Given the description of an element on the screen output the (x, y) to click on. 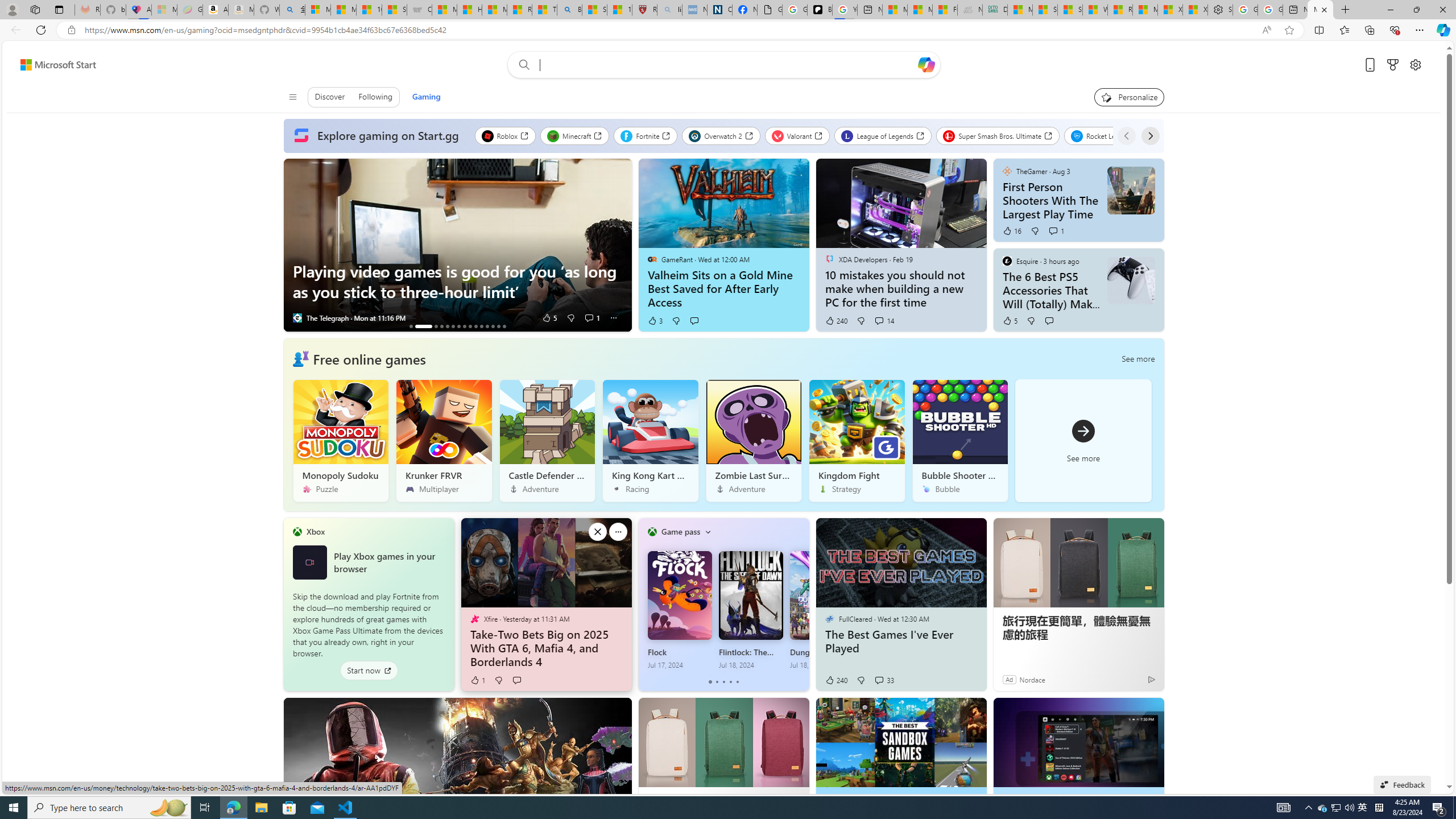
Game pass (680, 531)
Recipes - MSN (519, 9)
tab-3 (729, 682)
See more (1149, 711)
Kingdom Fight (856, 440)
Dungeons Of Hinterberg Jul 18, 2024 (821, 610)
tab-4 (737, 682)
12 Popular Science Lies that Must be Corrected (619, 9)
Robert H. Shmerling, MD - Harvard Health (644, 9)
Minecraft (574, 135)
Science - MSN (593, 9)
3 Like (654, 320)
